Given the description of an element on the screen output the (x, y) to click on. 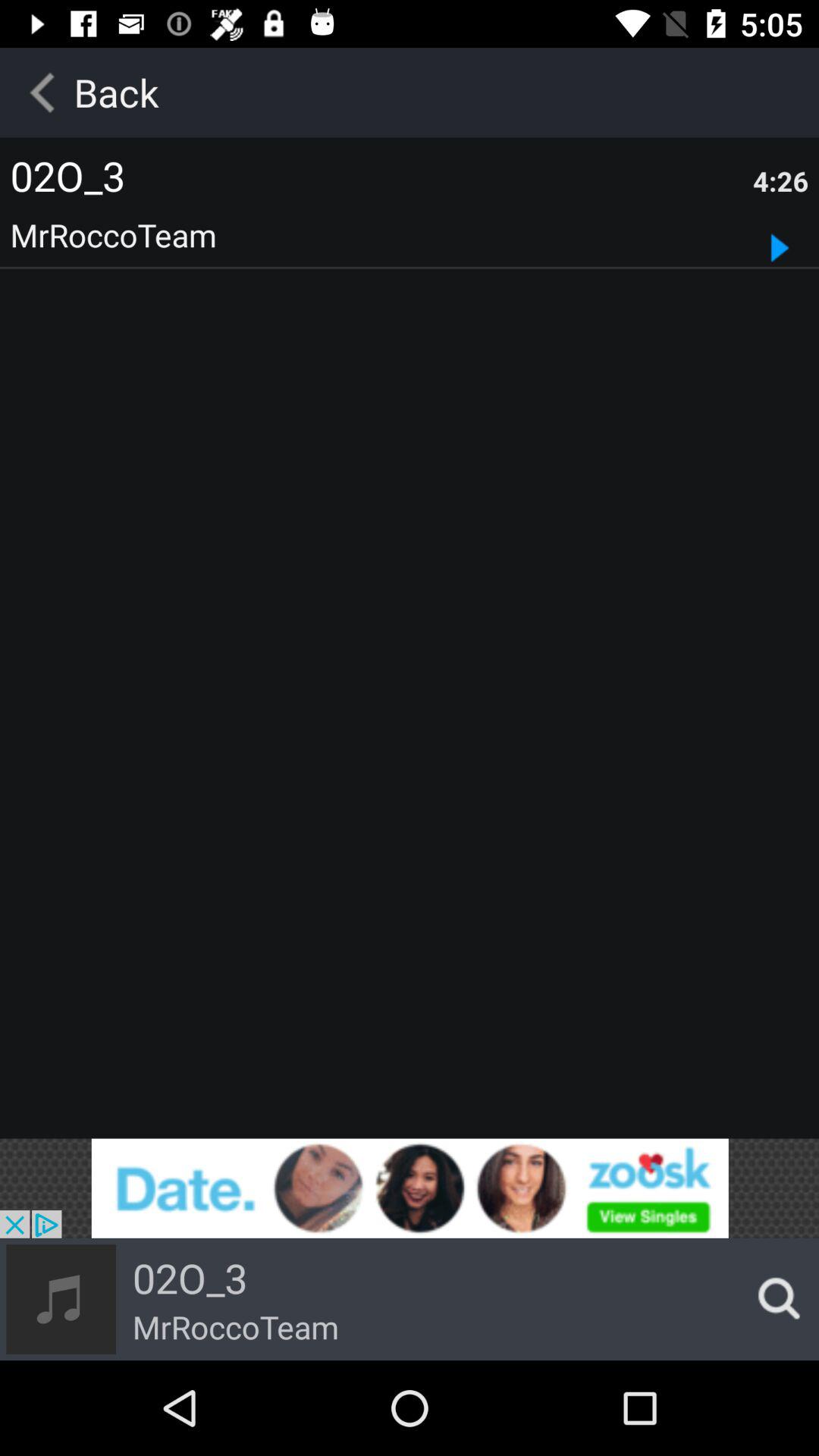
search (773, 1298)
